Given the description of an element on the screen output the (x, y) to click on. 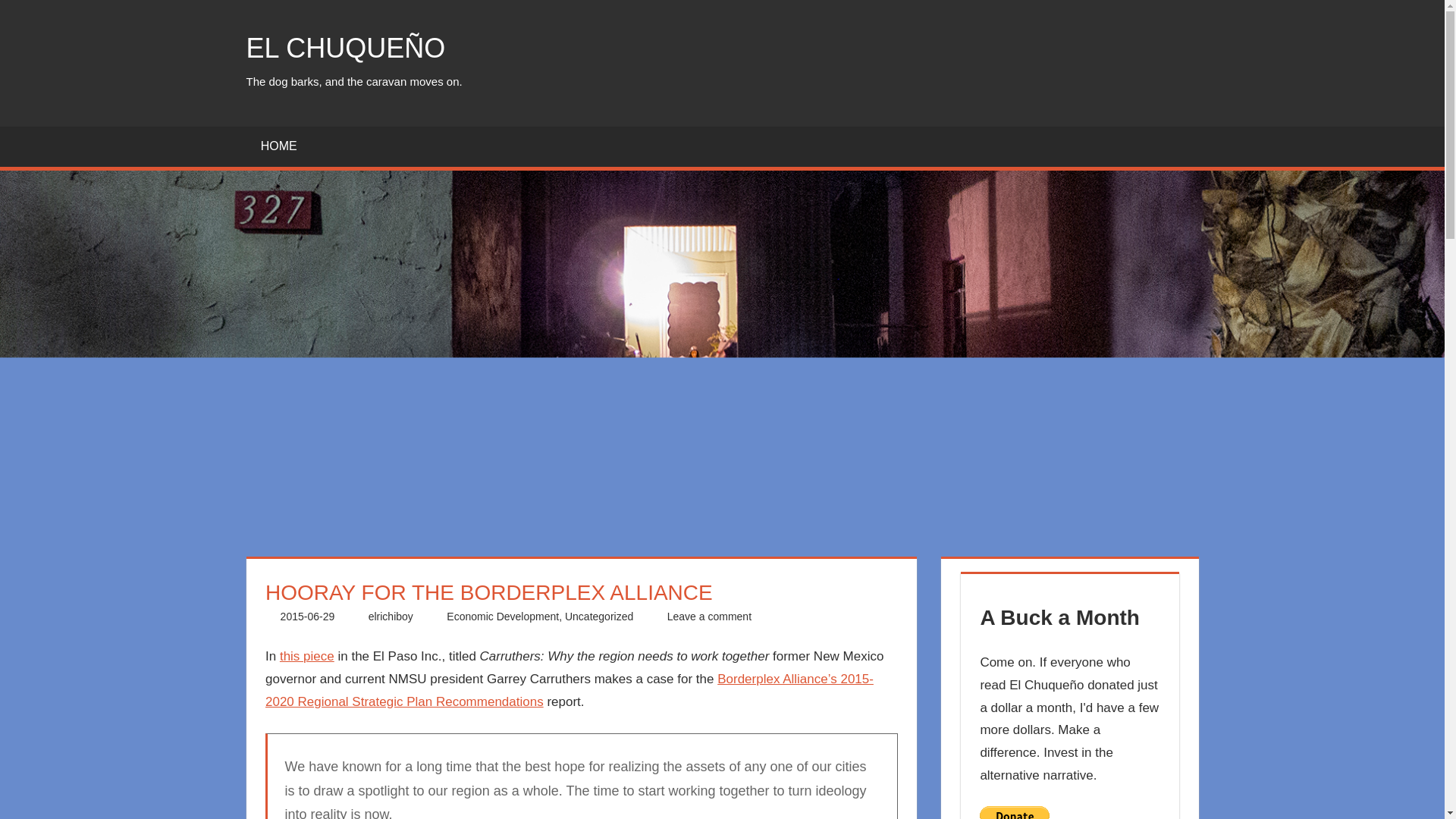
Leave a comment (708, 616)
Economic Development (502, 616)
2015-06-29 (307, 616)
HOME (278, 146)
Uncategorized (598, 616)
this piece (306, 656)
07:00 (307, 616)
elrichiboy (390, 616)
View all posts by elrichiboy (390, 616)
